Given the description of an element on the screen output the (x, y) to click on. 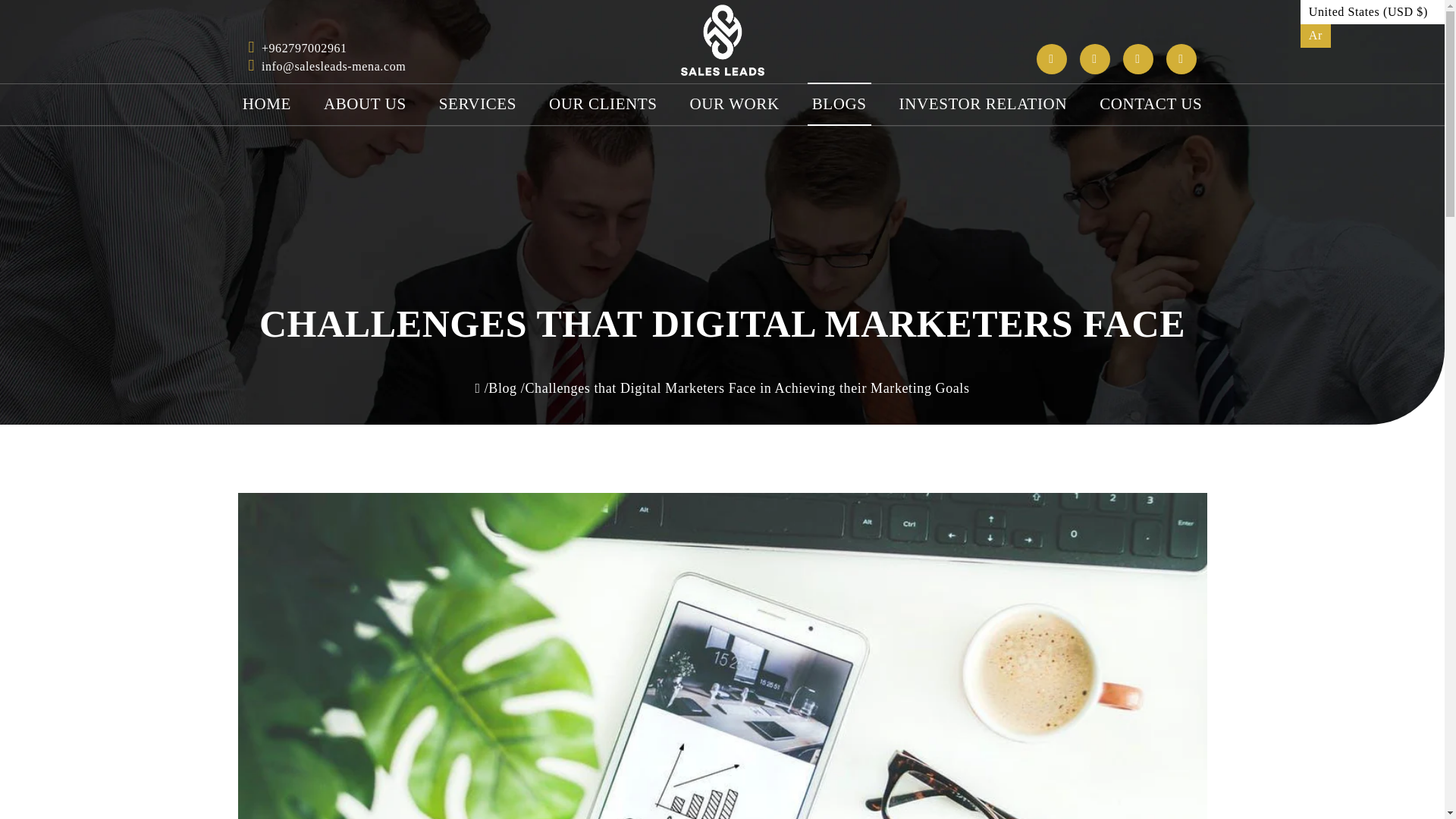
Skip to content (45, 16)
